Given the description of an element on the screen output the (x, y) to click on. 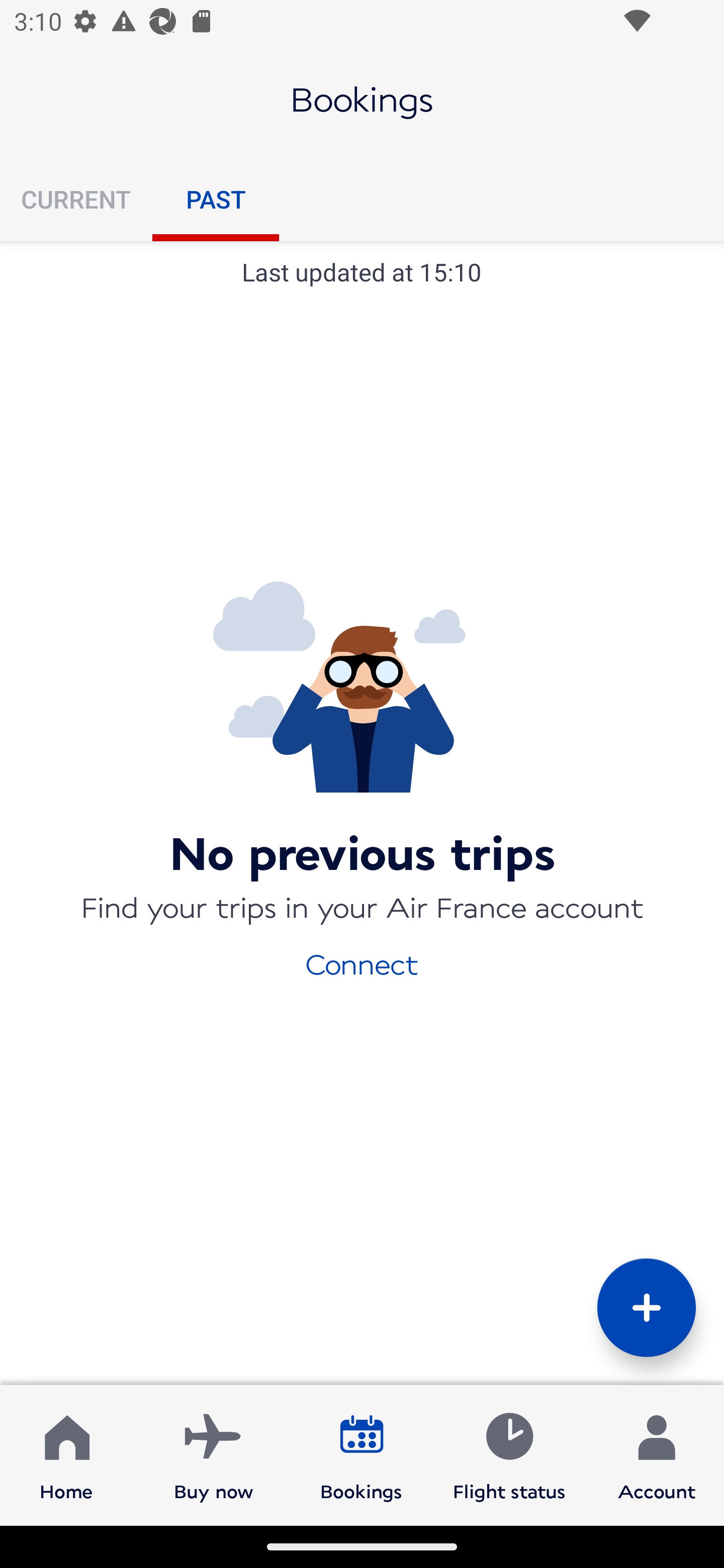
CURRENT (76, 198)
Connect (361, 963)
Home (66, 1454)
Buy now (213, 1454)
Flight status (509, 1454)
Account (657, 1454)
